Given the description of an element on the screen output the (x, y) to click on. 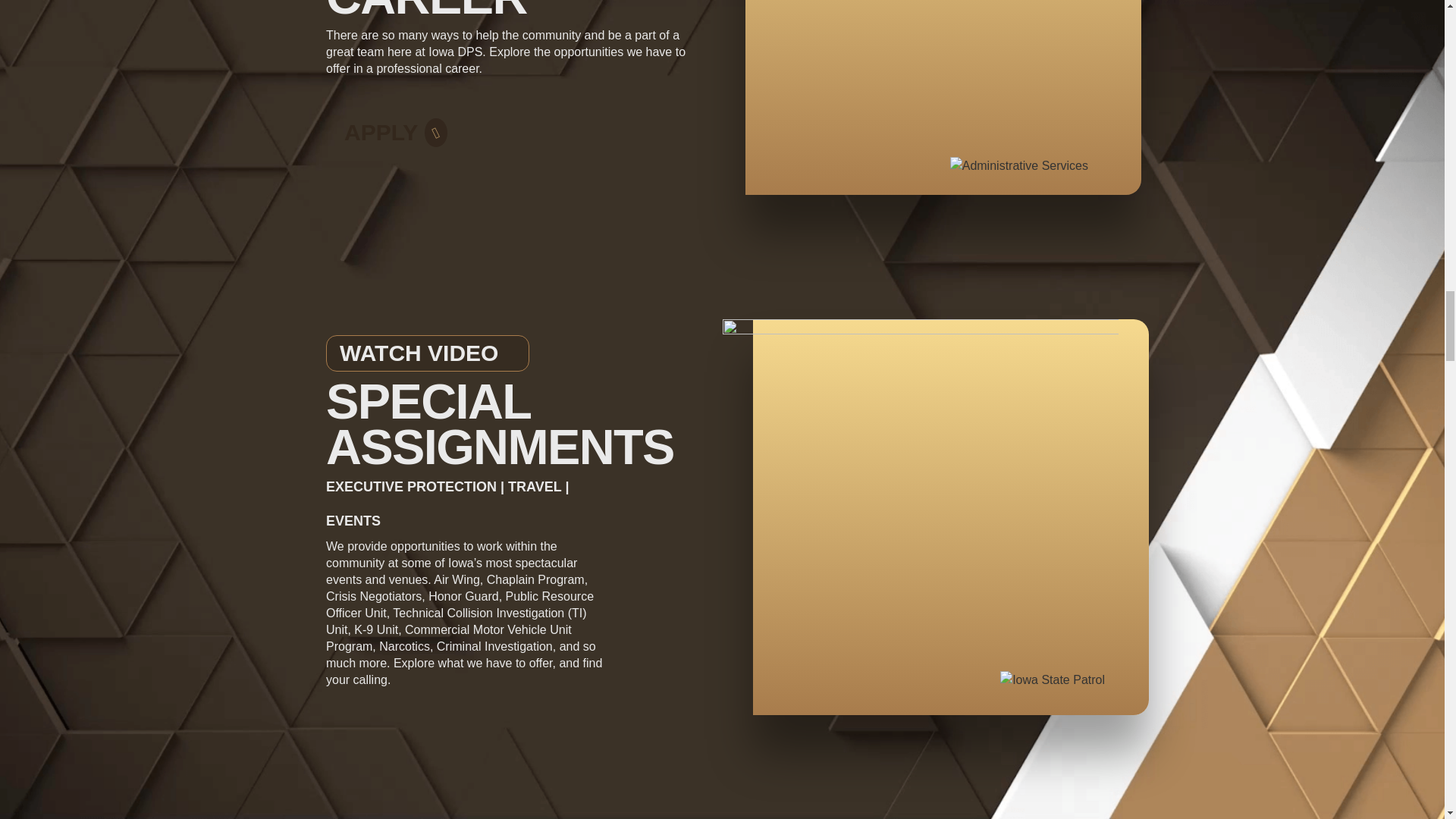
APPLY (395, 125)
WATCH VIDEO (427, 352)
Administrative Services (1018, 166)
Iowa State Patrol (1052, 679)
